Given the description of an element on the screen output the (x, y) to click on. 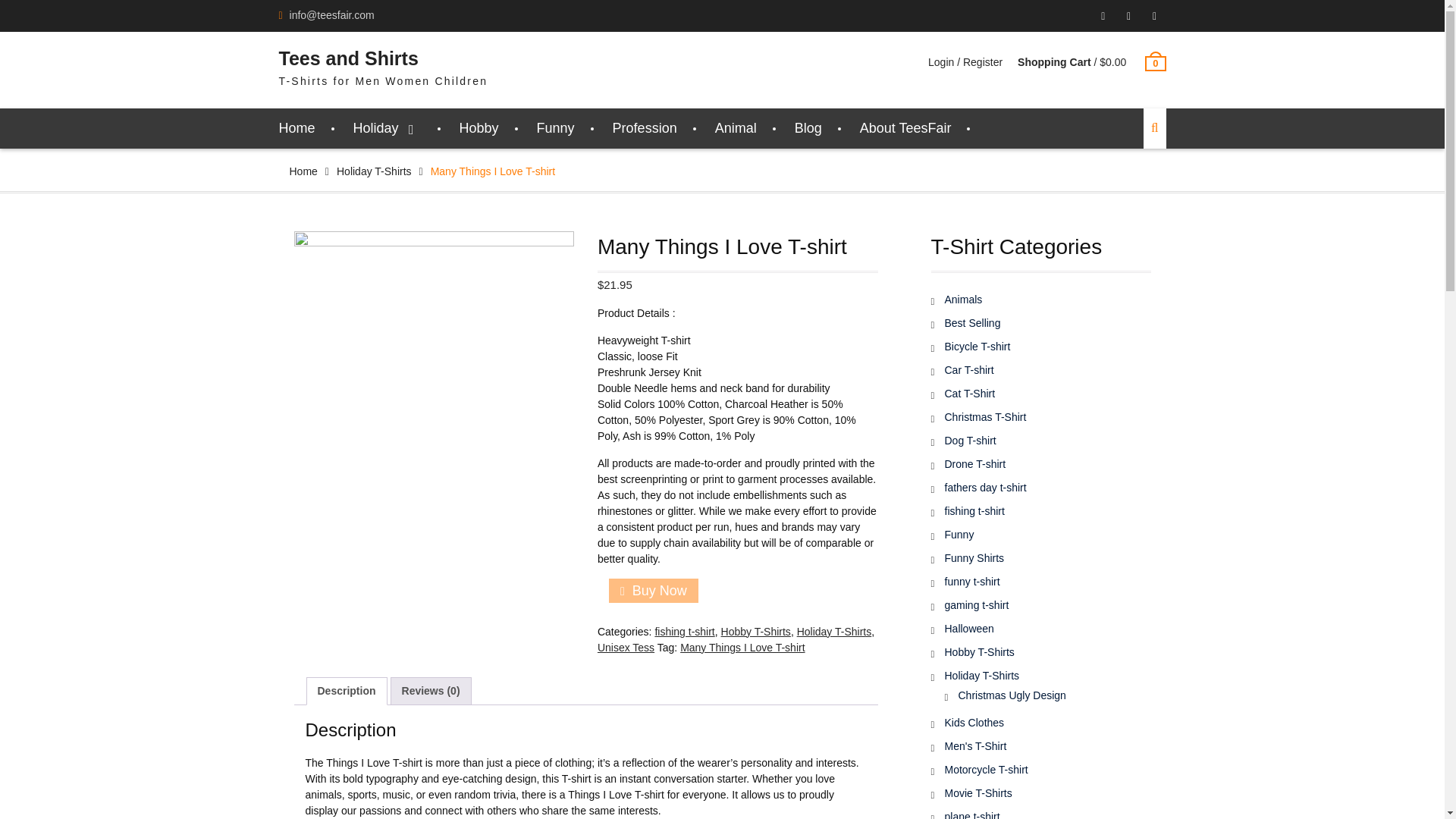
Profession (644, 128)
Buy Now (653, 590)
Google Plus (1103, 15)
Home (303, 171)
Holiday (387, 128)
Hobby (479, 128)
Animal (735, 128)
Description (346, 691)
Unisex Tess (624, 647)
Funny (556, 128)
